Given the description of an element on the screen output the (x, y) to click on. 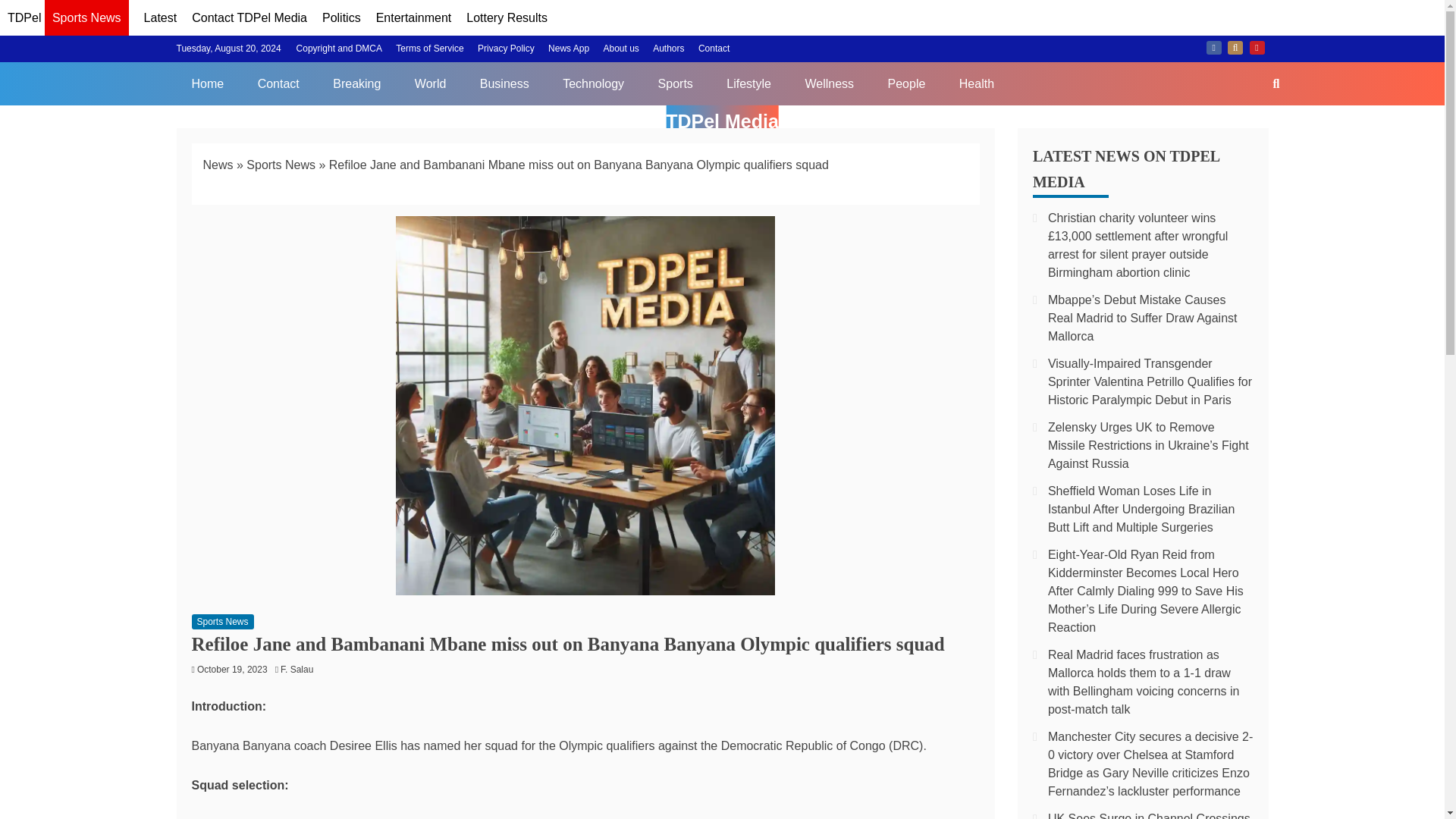
TDPel (23, 17)
About us (620, 48)
Sports News (221, 621)
Technology (593, 83)
Latest (160, 17)
Lottery Results (506, 17)
Sports News (87, 19)
Terms of Service (429, 48)
Entertainment (413, 17)
Lifestyle (748, 83)
